Given the description of an element on the screen output the (x, y) to click on. 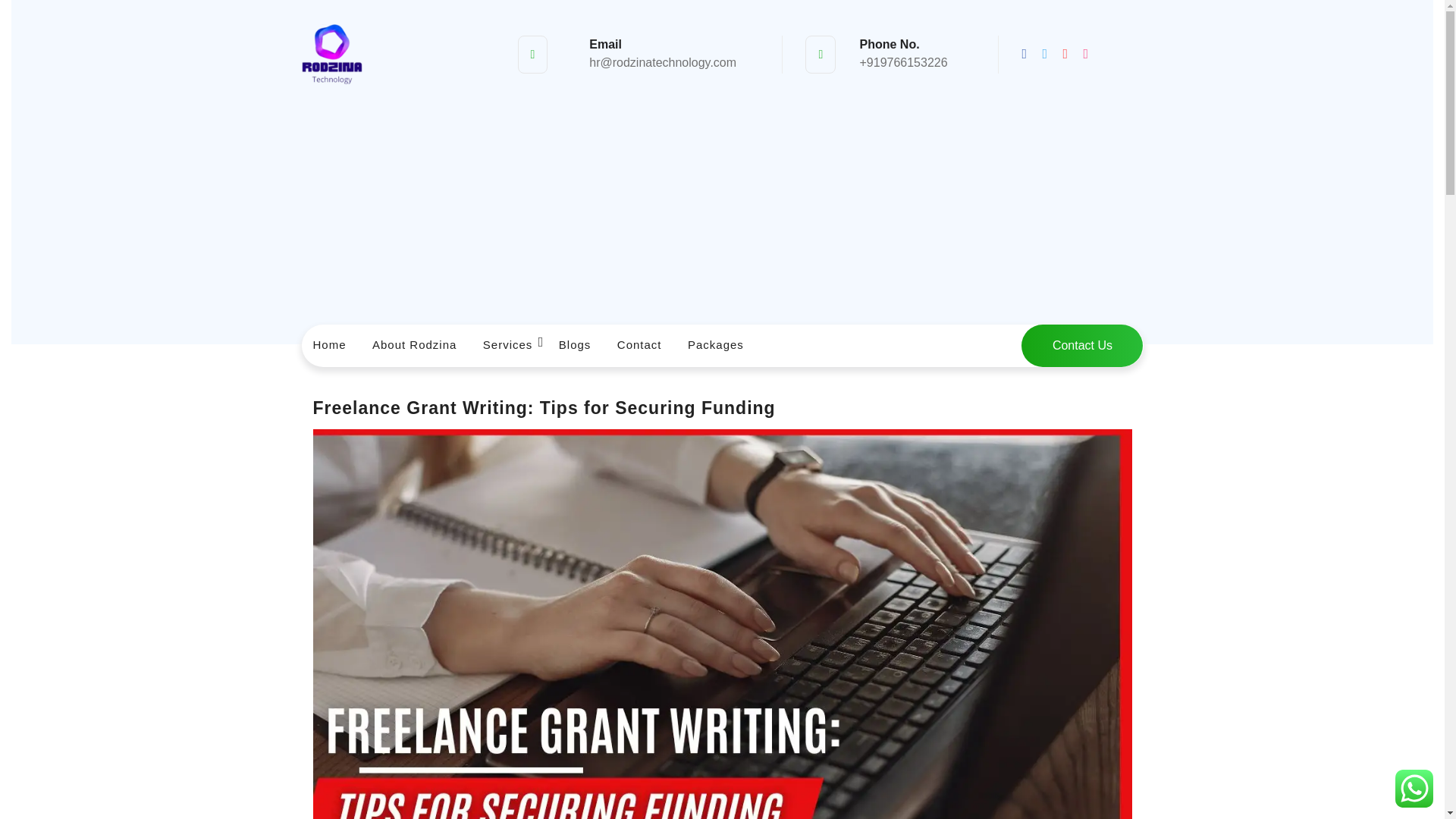
About Rodzina (414, 345)
Contact (638, 345)
Services (507, 345)
Packages (716, 345)
Home (329, 345)
Contact Us (1082, 345)
Blogs (574, 345)
